Given the description of an element on the screen output the (x, y) to click on. 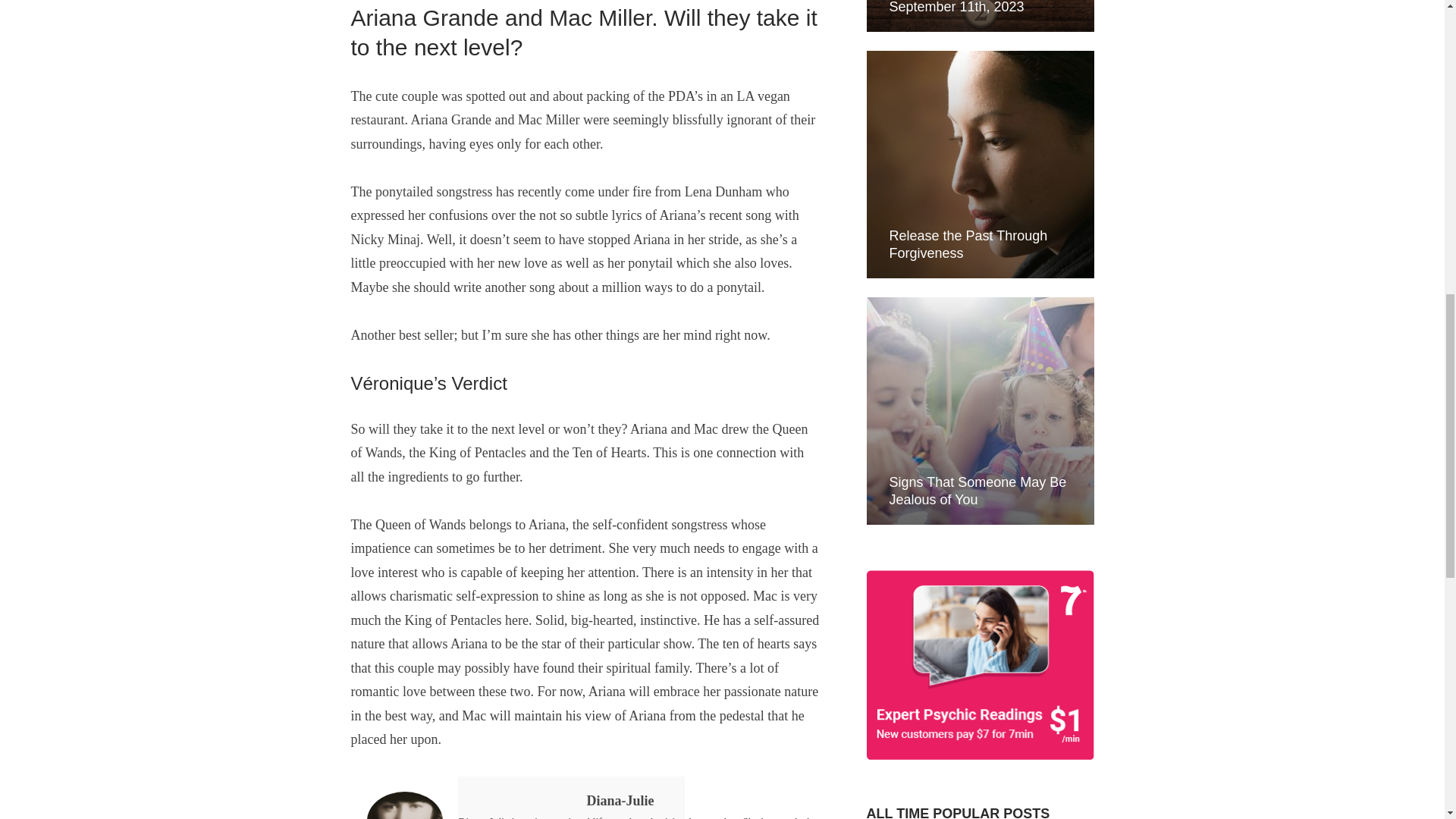
View Release the Past Through Forgiveness (967, 244)
View Interactive Tarot Reading: September 11th, 2023 (965, 7)
Diana-Julie (571, 790)
Signs That Someone May Be Jealous of You (976, 490)
Interactive Tarot Reading: September 11th, 2023 (965, 7)
View Signs That Someone May Be Jealous of You (976, 490)
Release the Past Through Forgiveness (967, 244)
